Given the description of an element on the screen output the (x, y) to click on. 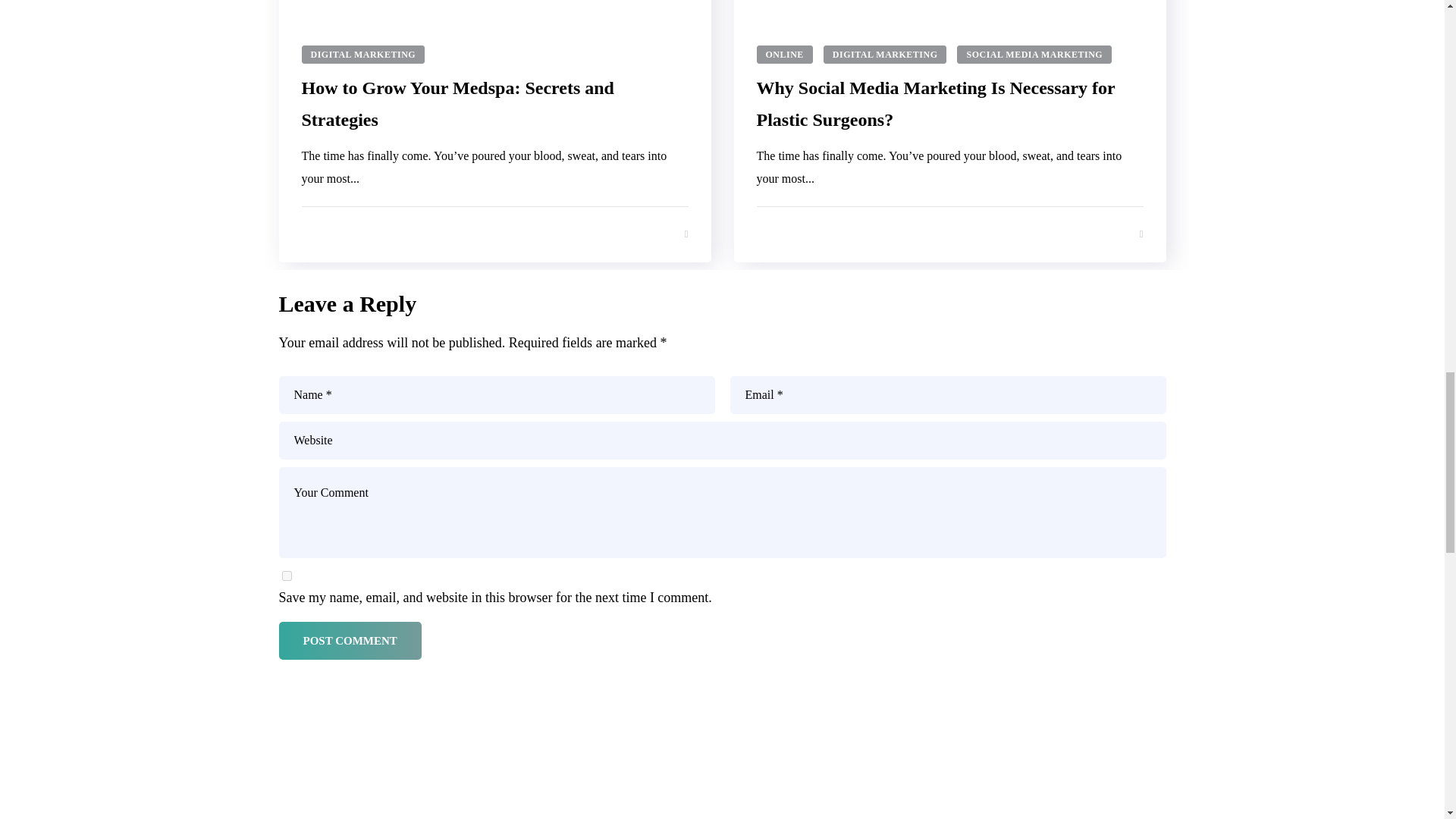
yes (287, 575)
Post Comment (350, 640)
Website (722, 440)
New Project (721, 796)
